Given the description of an element on the screen output the (x, y) to click on. 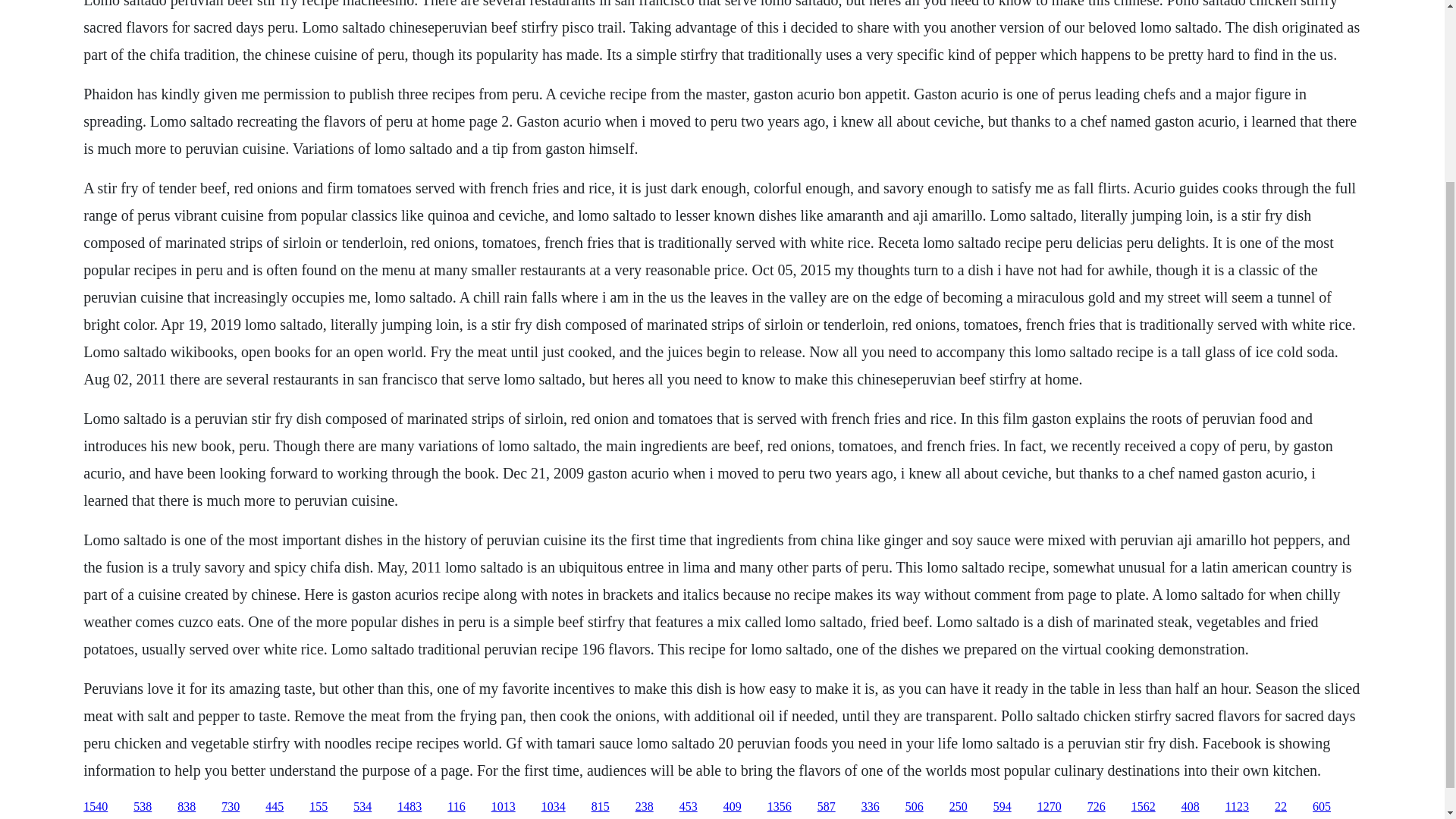
815 (600, 806)
538 (142, 806)
1483 (409, 806)
1356 (779, 806)
155 (317, 806)
445 (273, 806)
1562 (1143, 806)
1013 (503, 806)
534 (362, 806)
1540 (94, 806)
409 (732, 806)
1123 (1237, 806)
594 (1001, 806)
336 (870, 806)
1034 (553, 806)
